Given the description of an element on the screen output the (x, y) to click on. 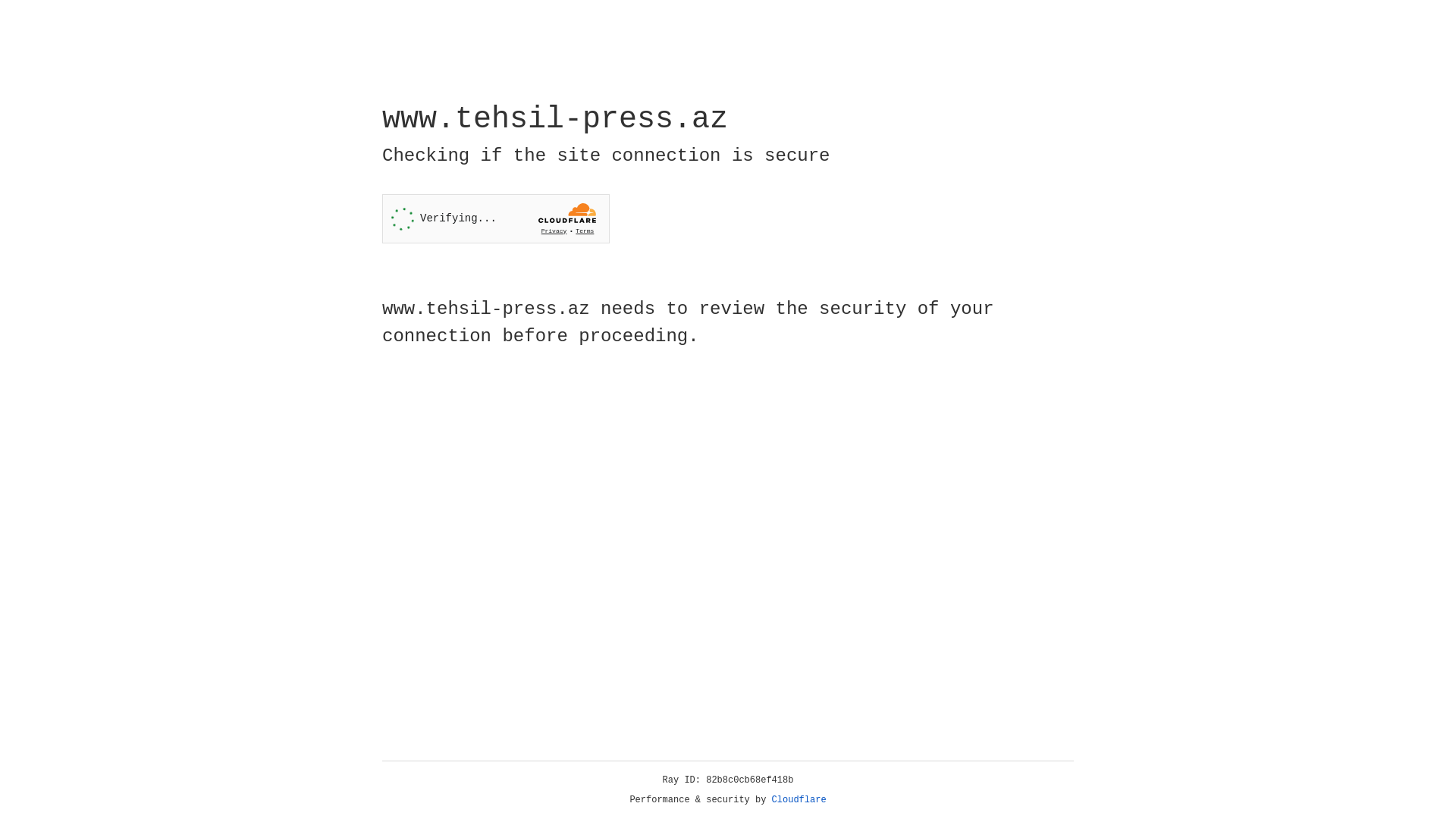
Cloudflare Element type: text (798, 799)
Widget containing a Cloudflare security challenge Element type: hover (495, 218)
